Given the description of an element on the screen output the (x, y) to click on. 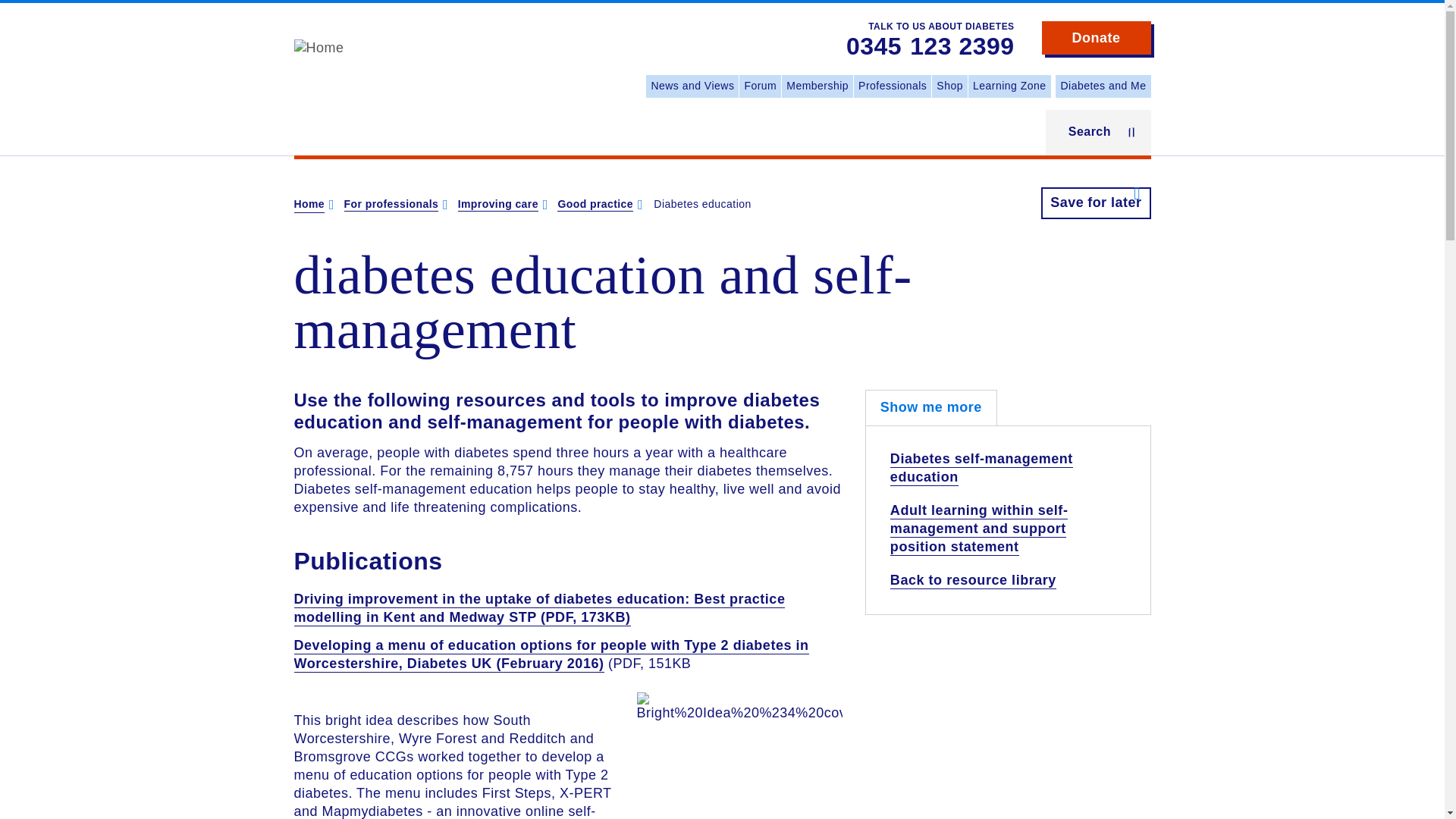
Membership (817, 86)
Home (318, 47)
Improving care (498, 204)
For professionals (391, 204)
Donate (1096, 37)
Shop (949, 86)
Professionals (892, 86)
Home (309, 204)
Forum (759, 86)
News and Views (692, 86)
Search (1098, 132)
Learning Zone (1009, 86)
0345123 2399 (929, 46)
Good practice (595, 204)
Diabetes and Me (1102, 86)
